Given the description of an element on the screen output the (x, y) to click on. 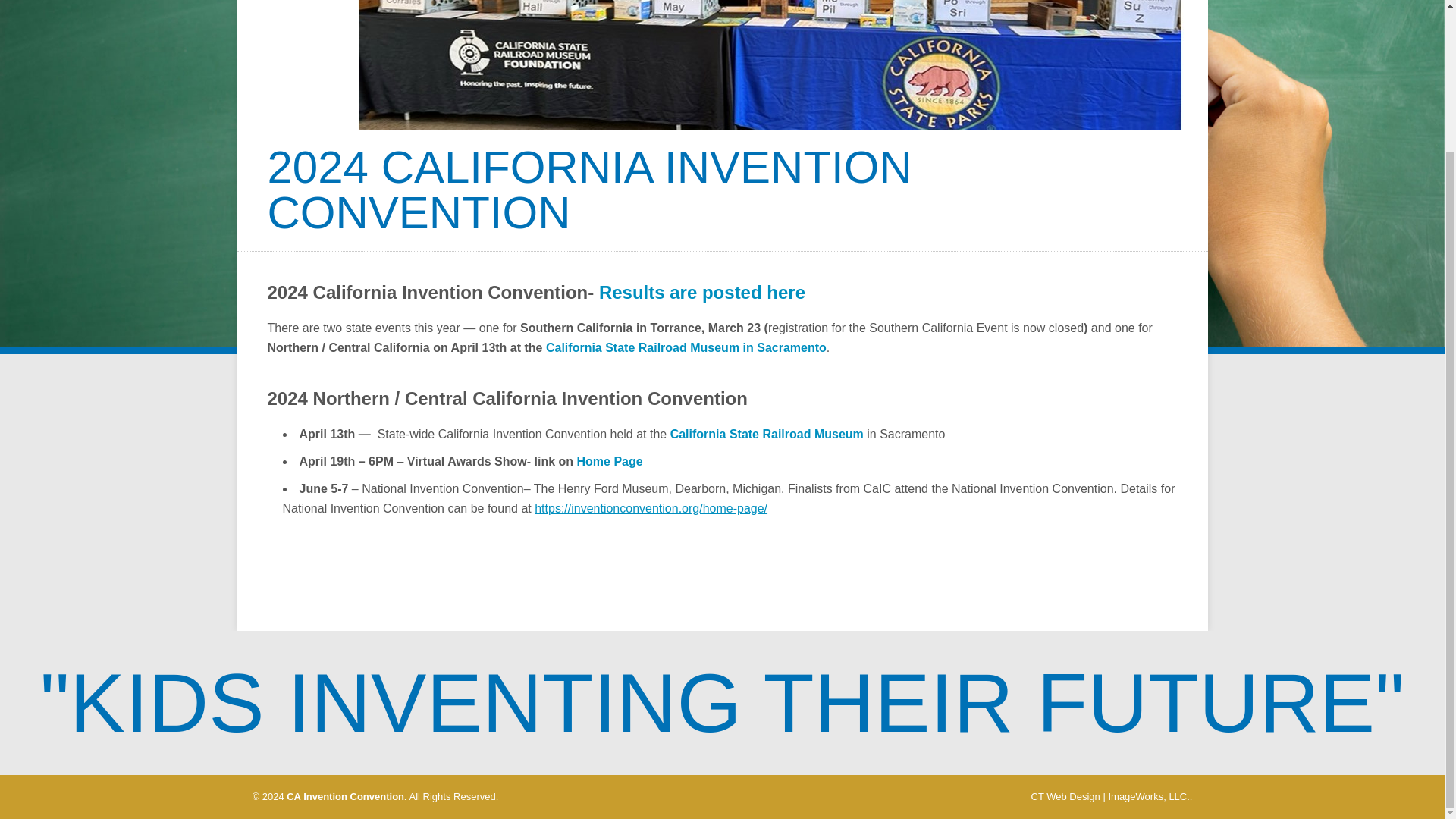
ImageWorks, LLC. (1148, 796)
Results are posted here (701, 291)
California State Railroad Museum in Sacramento (686, 347)
California State Railroad Museum (766, 433)
Home Page (609, 461)
